Given the description of an element on the screen output the (x, y) to click on. 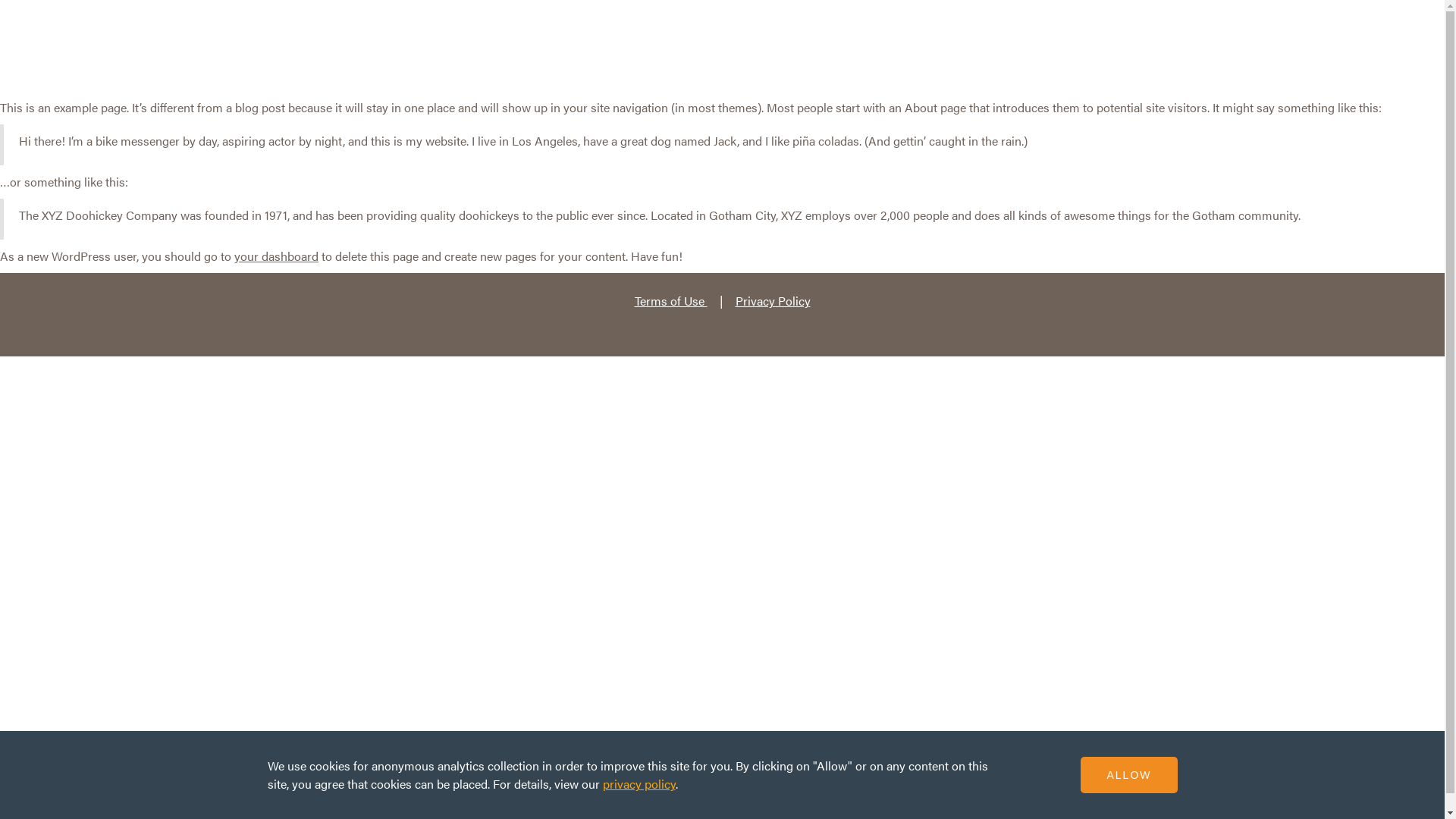
ALLOW Element type: text (1128, 774)
Privacy Policy Element type: text (772, 300)
privacy policy Element type: text (638, 783)
Terms of Use Element type: text (669, 300)
your dashboard Element type: text (276, 255)
